Given the description of an element on the screen output the (x, y) to click on. 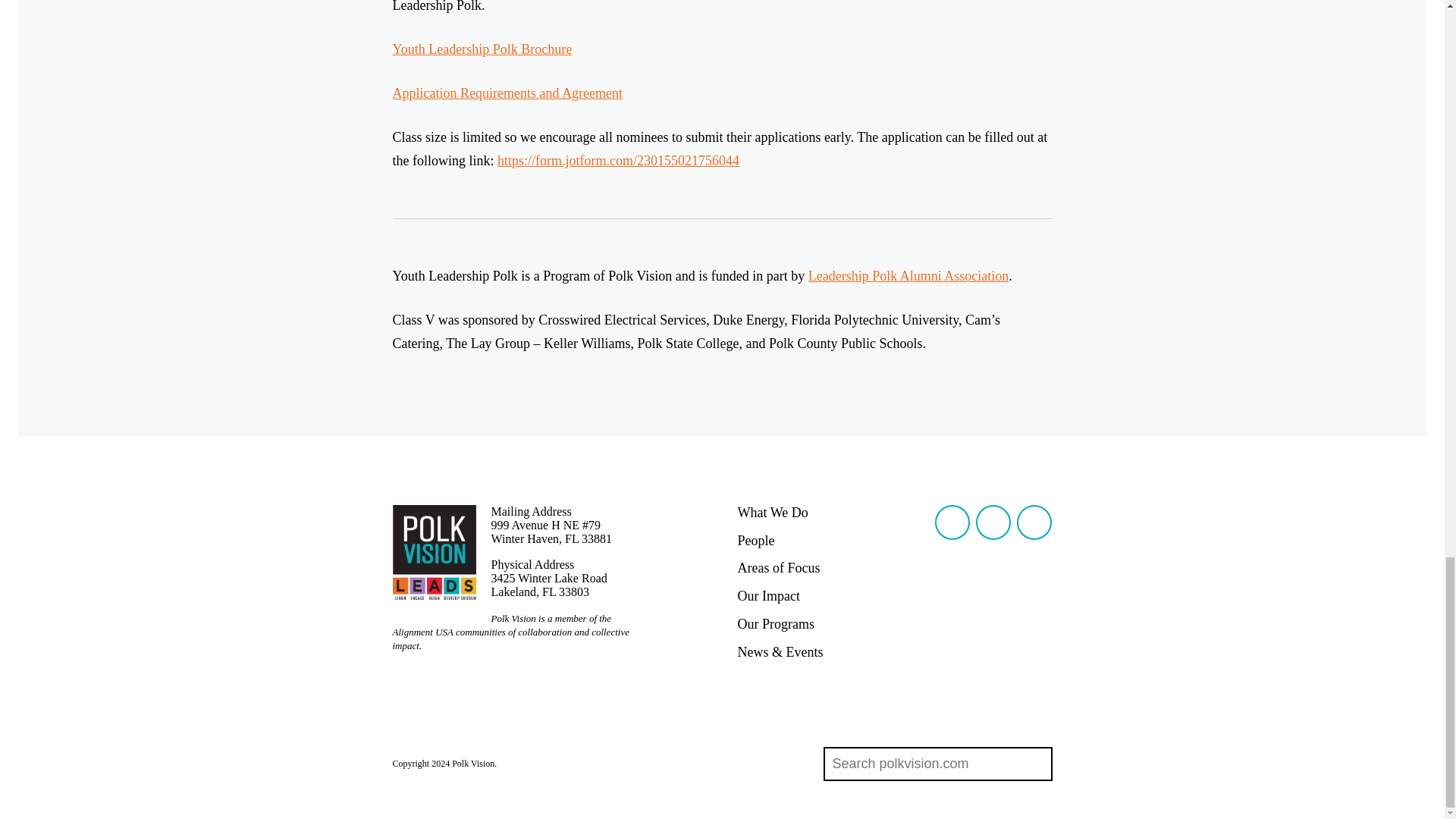
Application Requirements and Agreement (508, 92)
Youth Leadership Polk Brochure (482, 48)
Search for: (920, 763)
